Given the description of an element on the screen output the (x, y) to click on. 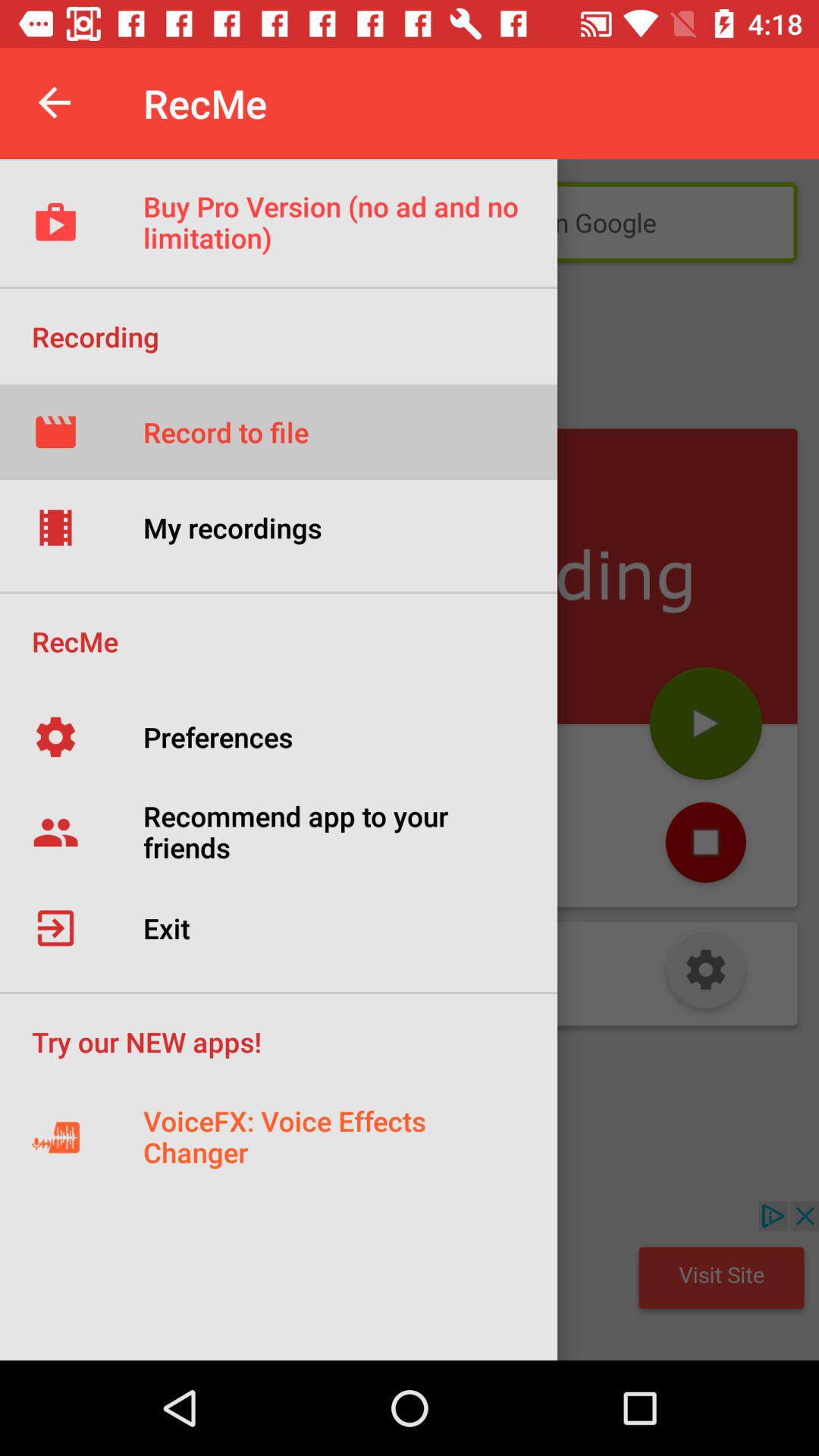
go to setting (705, 973)
